Given the description of an element on the screen output the (x, y) to click on. 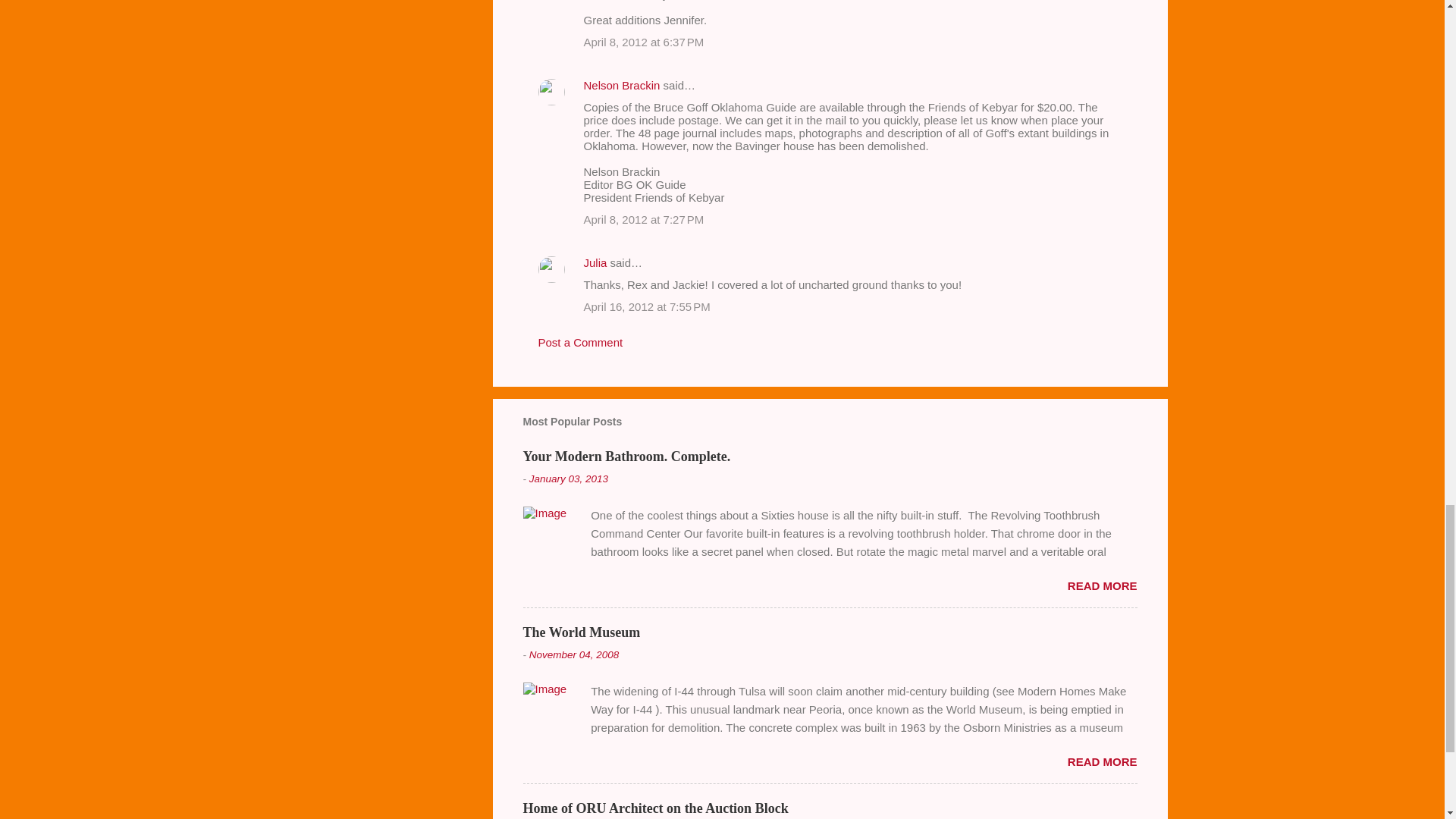
Nelson Brackin (622, 84)
Julia (595, 262)
